Given the description of an element on the screen output the (x, y) to click on. 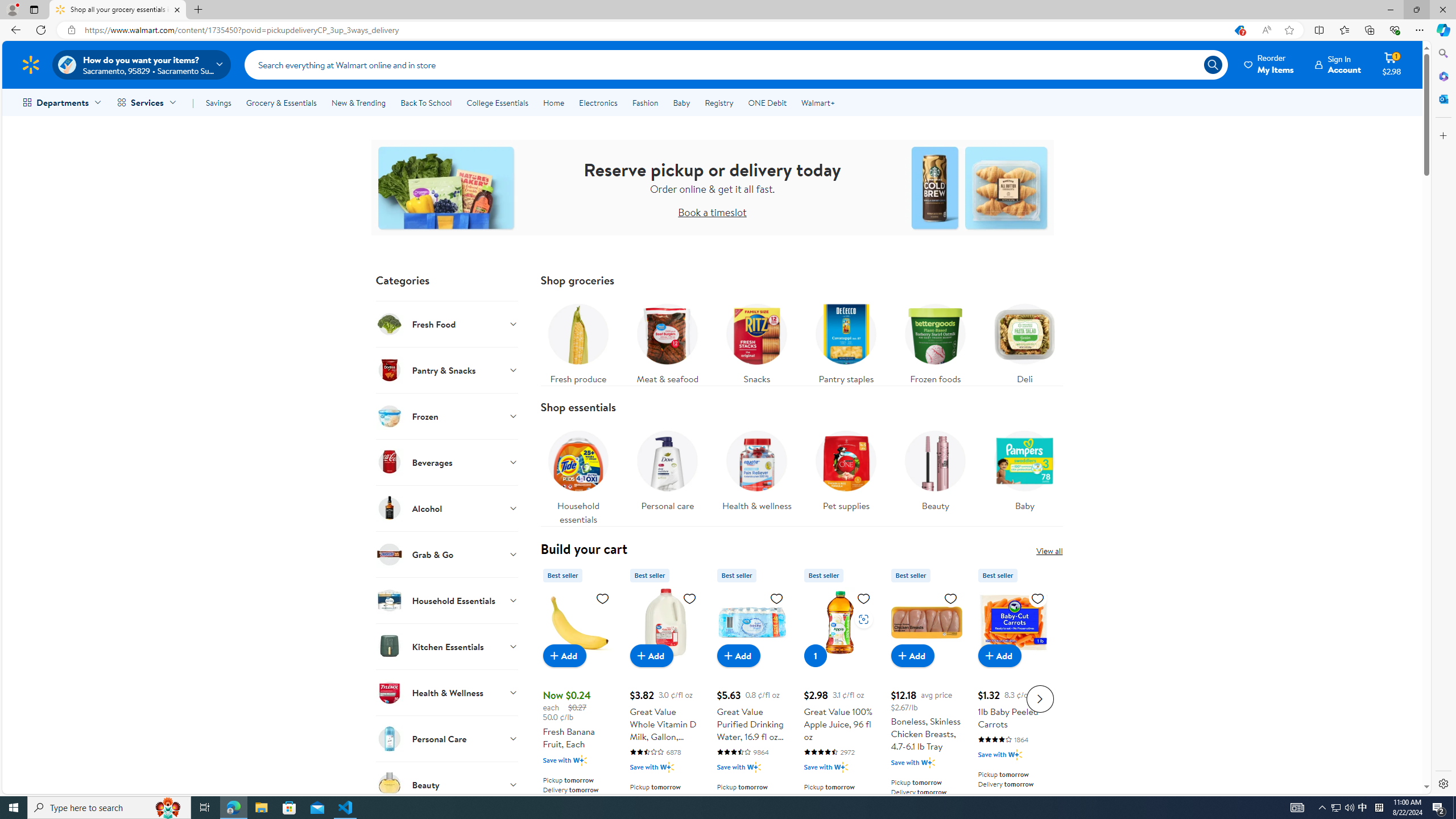
Grab & Go (446, 554)
Deli (1024, 340)
Electronics (598, 102)
Fashion (644, 102)
Meat & seafood (667, 340)
Health & wellness (756, 473)
Grocery & Essentials (280, 102)
Frozen foods (935, 340)
